Given the description of an element on the screen output the (x, y) to click on. 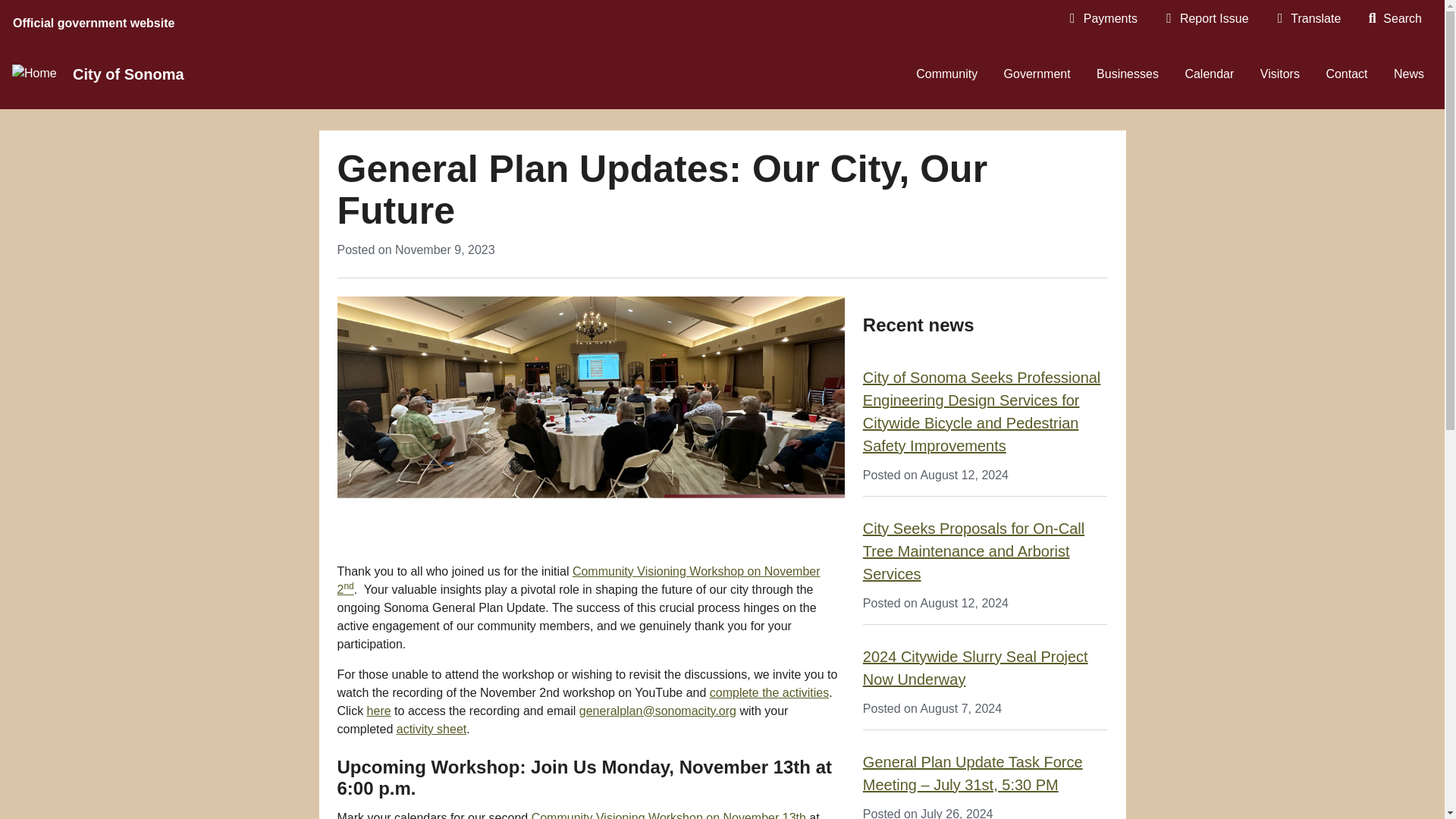
Translate (1308, 18)
Calendar (1208, 74)
Payments (1102, 18)
Report Issue (1206, 18)
Search (1394, 18)
Community (946, 74)
Home (133, 74)
here (378, 710)
Home (33, 73)
Community Visioning Workshop on November 13th (668, 815)
